Given the description of an element on the screen output the (x, y) to click on. 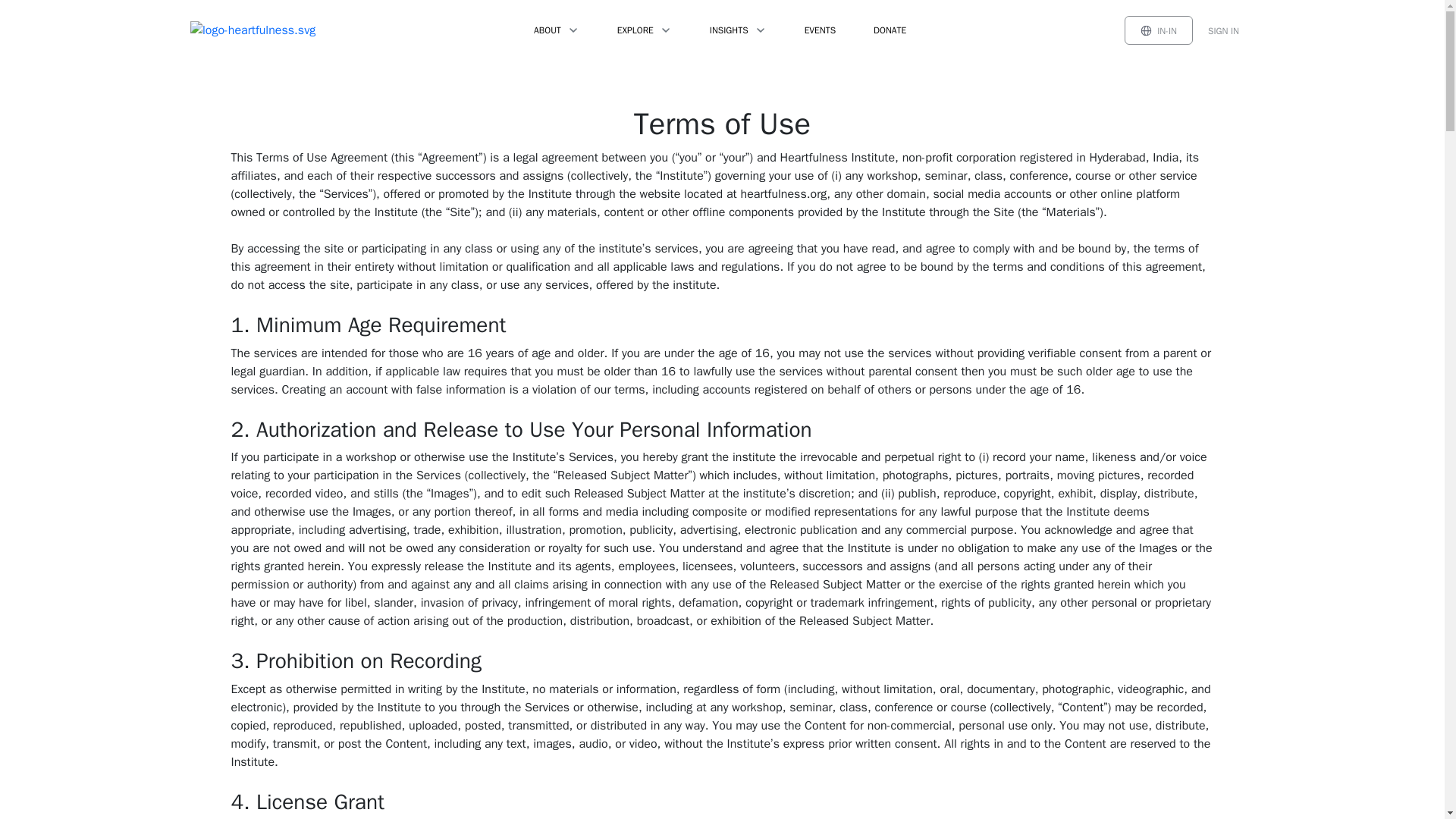
EXPLORE (644, 29)
INSIGHTS (737, 29)
IN-IN (1158, 29)
SIGN IN (1222, 29)
DONATE (890, 29)
EVENTS (819, 29)
ABOUT (556, 29)
